Given the description of an element on the screen output the (x, y) to click on. 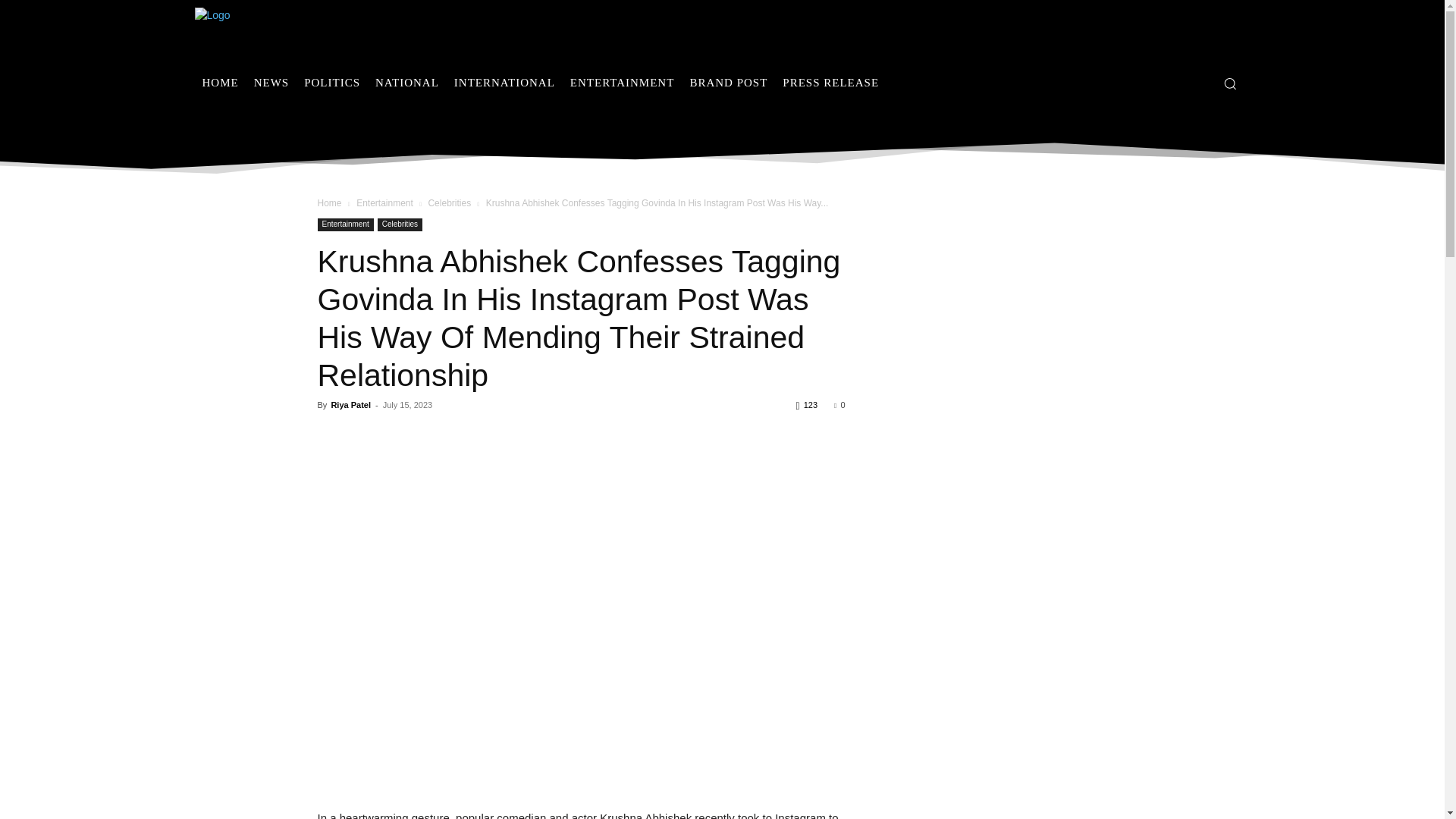
POLITICS (332, 82)
Entertainment (384, 203)
NATIONAL (407, 82)
ENTERTAINMENT (622, 82)
View all posts in Celebrities (449, 203)
Celebrities (399, 224)
Home (328, 203)
Entertainment (344, 224)
INTERNATIONAL (504, 82)
0 (839, 404)
NEWS (271, 82)
View all posts in Entertainment (384, 203)
BRAND POST (727, 82)
HOME (219, 82)
Riya Patel (350, 404)
